Given the description of an element on the screen output the (x, y) to click on. 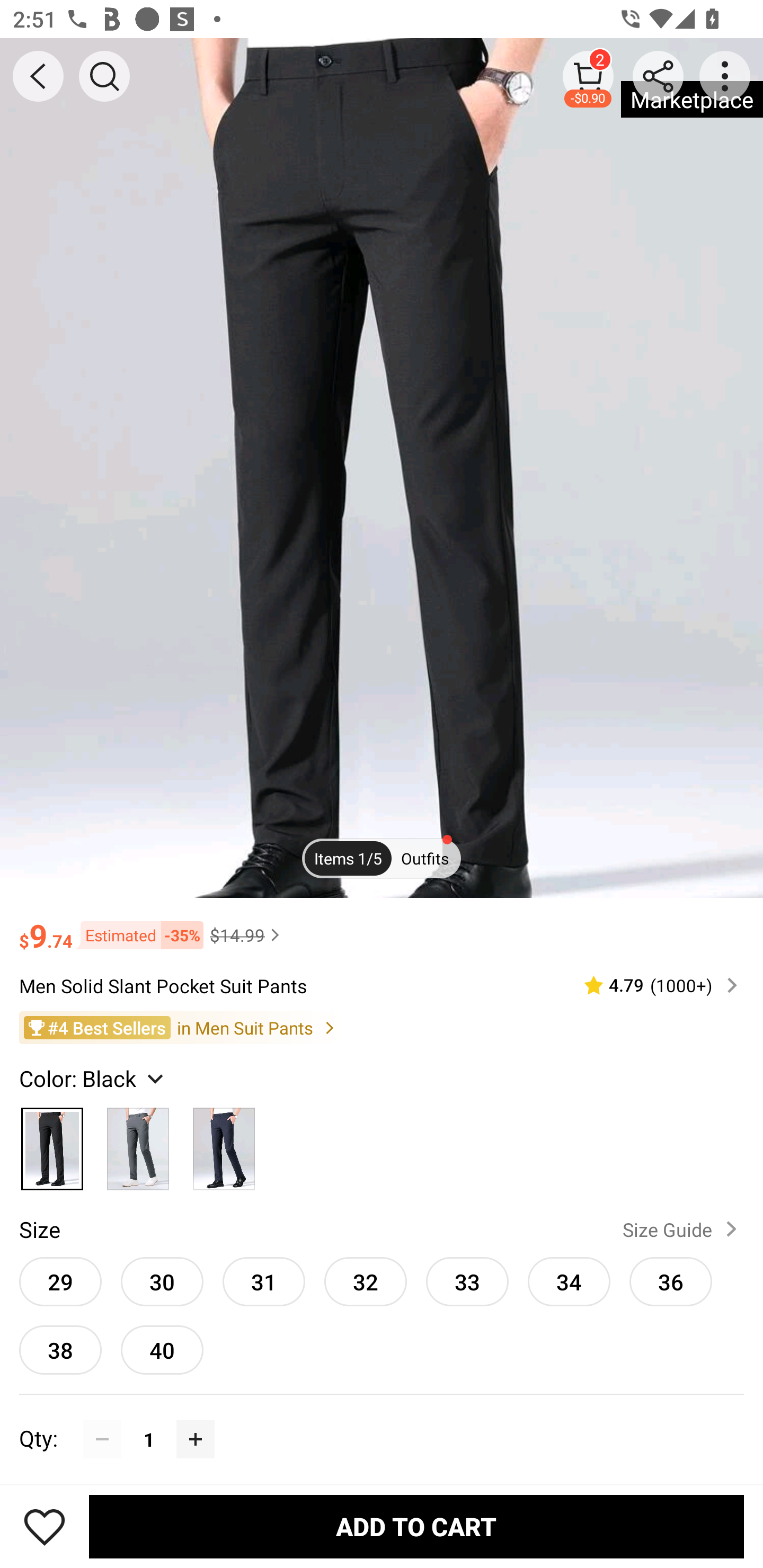
BACK (38, 75)
2 -$0.90 (588, 75)
Items 1/5 (347, 857)
Outfits (424, 857)
$9.74 Estimated -35% $14.99 (381, 927)
Estimated -35% (137, 934)
$14.99 (246, 935)
4.79 (1000‎+) (653, 984)
#4 Best Sellers in Men Suit Pants (381, 1027)
Color: Black (93, 1077)
Black (52, 1143)
Grey (138, 1143)
Navy Blue (224, 1143)
Size (39, 1228)
Size Guide (682, 1228)
29 29unselected option (60, 1281)
30 30unselected option (161, 1281)
31 31unselected option (263, 1281)
32 32unselected option (365, 1281)
33 33unselected option (466, 1281)
34 34unselected option (568, 1281)
36 36unselected option (670, 1281)
38 38unselected option (60, 1349)
40 40unselected option (161, 1349)
Qty: 1 (381, 1419)
ADD TO CART (416, 1526)
Save (44, 1526)
